Given the description of an element on the screen output the (x, y) to click on. 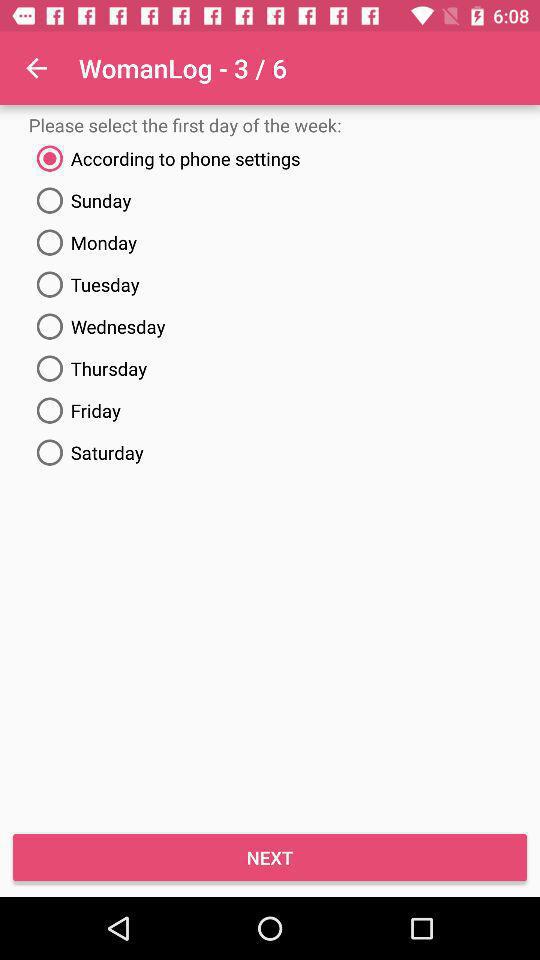
jump until the monday (269, 242)
